Given the description of an element on the screen output the (x, y) to click on. 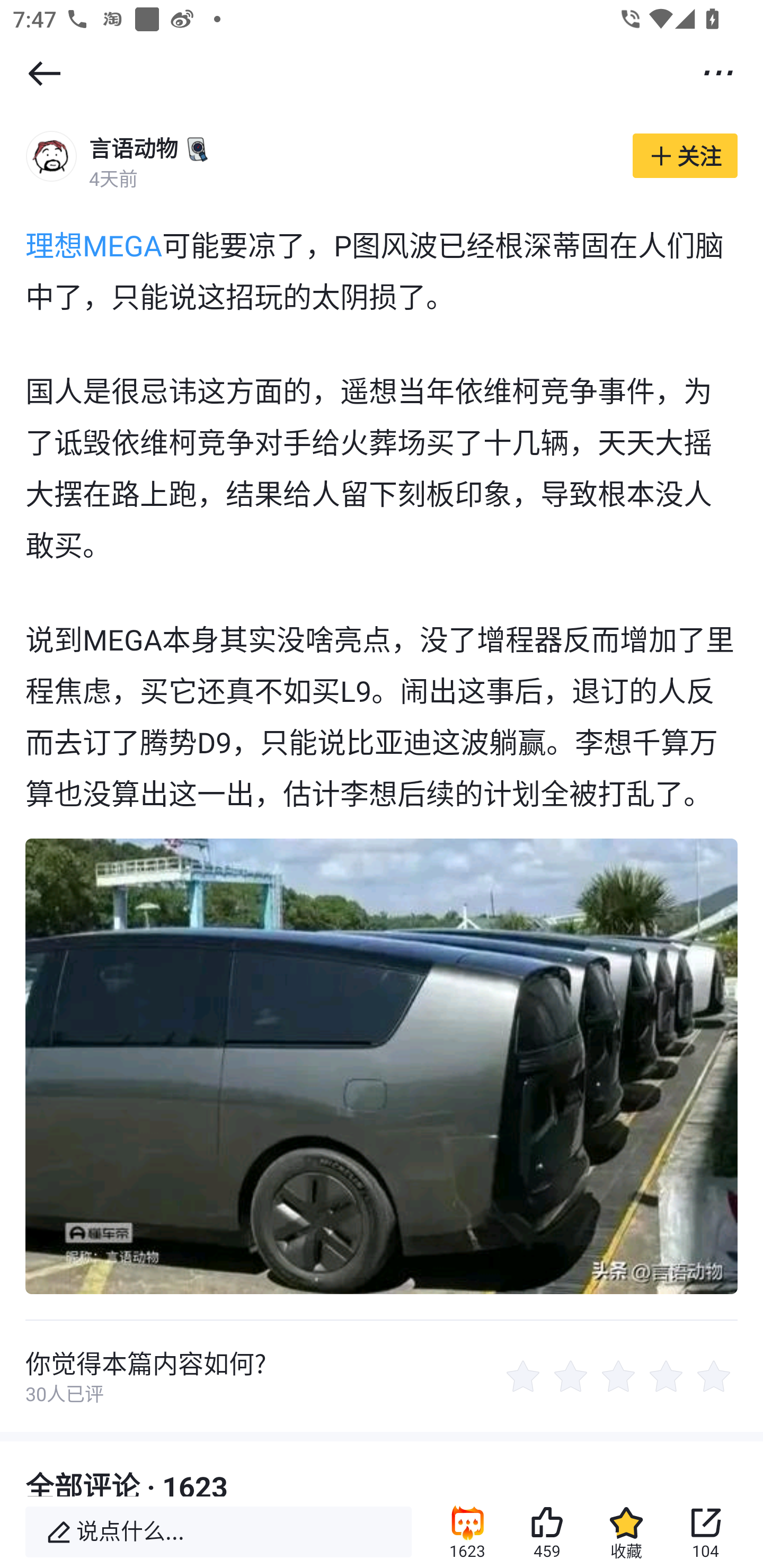
 (718, 71)
 (44, 73)
言语动物 (133, 148)
 关注 (684, 155)
1623 (467, 1531)
459 (546, 1531)
收藏 (625, 1531)
 104 (705, 1531)
 说点什么... (218, 1531)
